Given the description of an element on the screen output the (x, y) to click on. 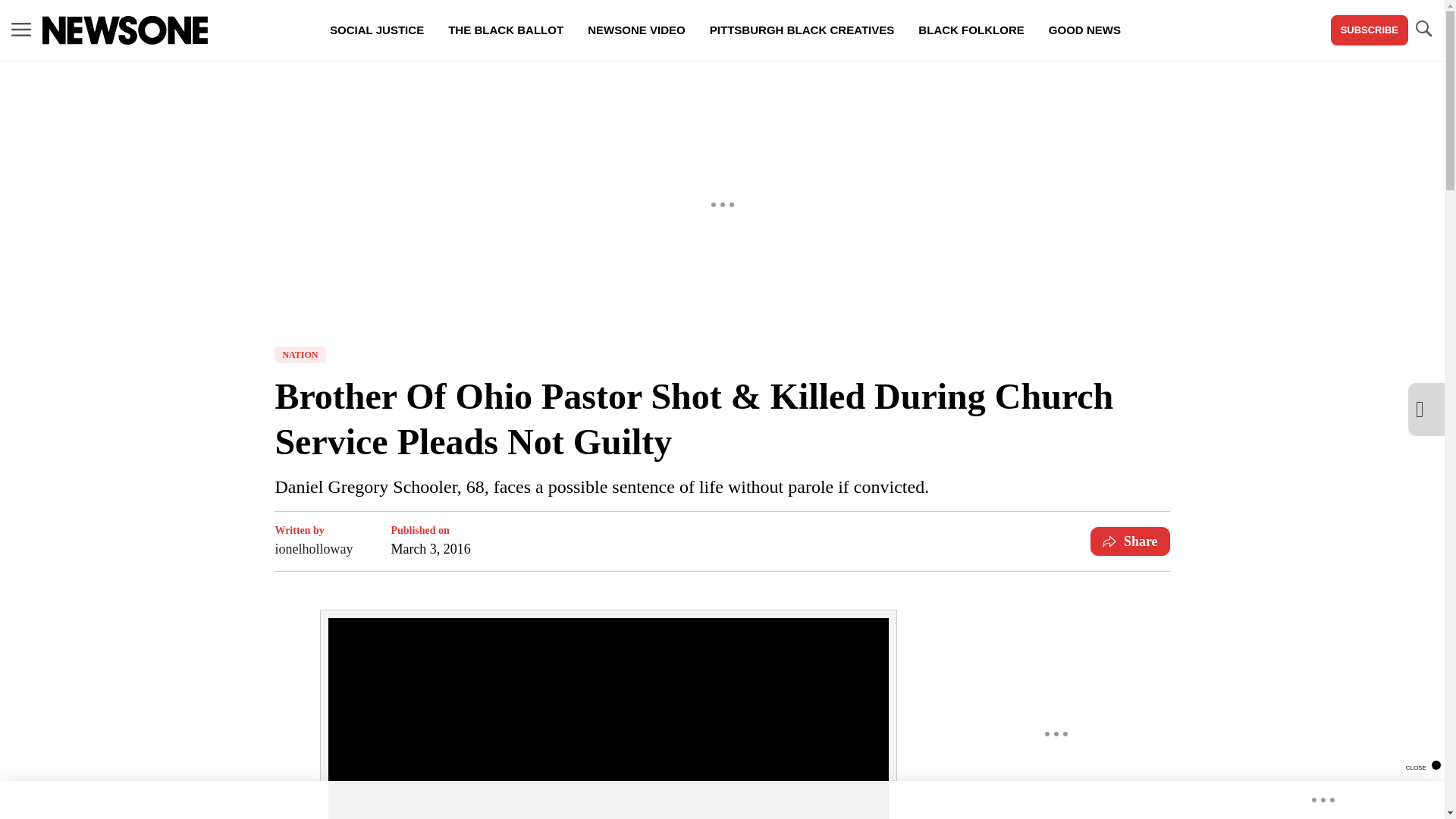
TOGGLE SEARCH (1422, 28)
NEWSONE VIDEO (636, 30)
TOGGLE SEARCH (1422, 30)
MENU (20, 30)
MENU (20, 29)
GOOD NEWS (1084, 30)
NATION (299, 354)
BLACK FOLKLORE (970, 30)
SOCIAL JUSTICE (376, 30)
THE BLACK BALLOT (505, 30)
